Given the description of an element on the screen output the (x, y) to click on. 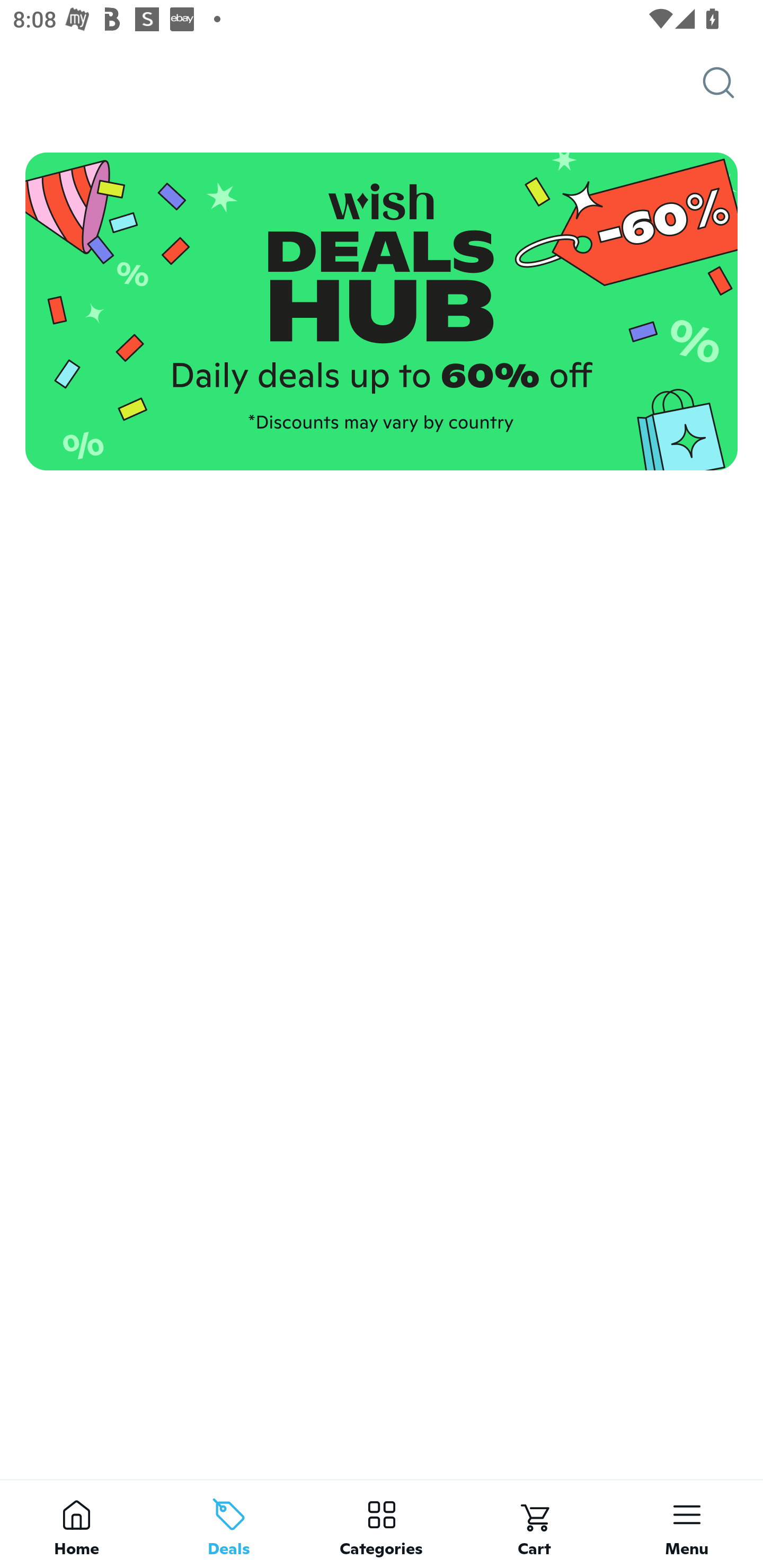
Search (732, 82)
Home (76, 1523)
Deals (228, 1523)
Categories (381, 1523)
Cart (533, 1523)
Menu (686, 1523)
